Given the description of an element on the screen output the (x, y) to click on. 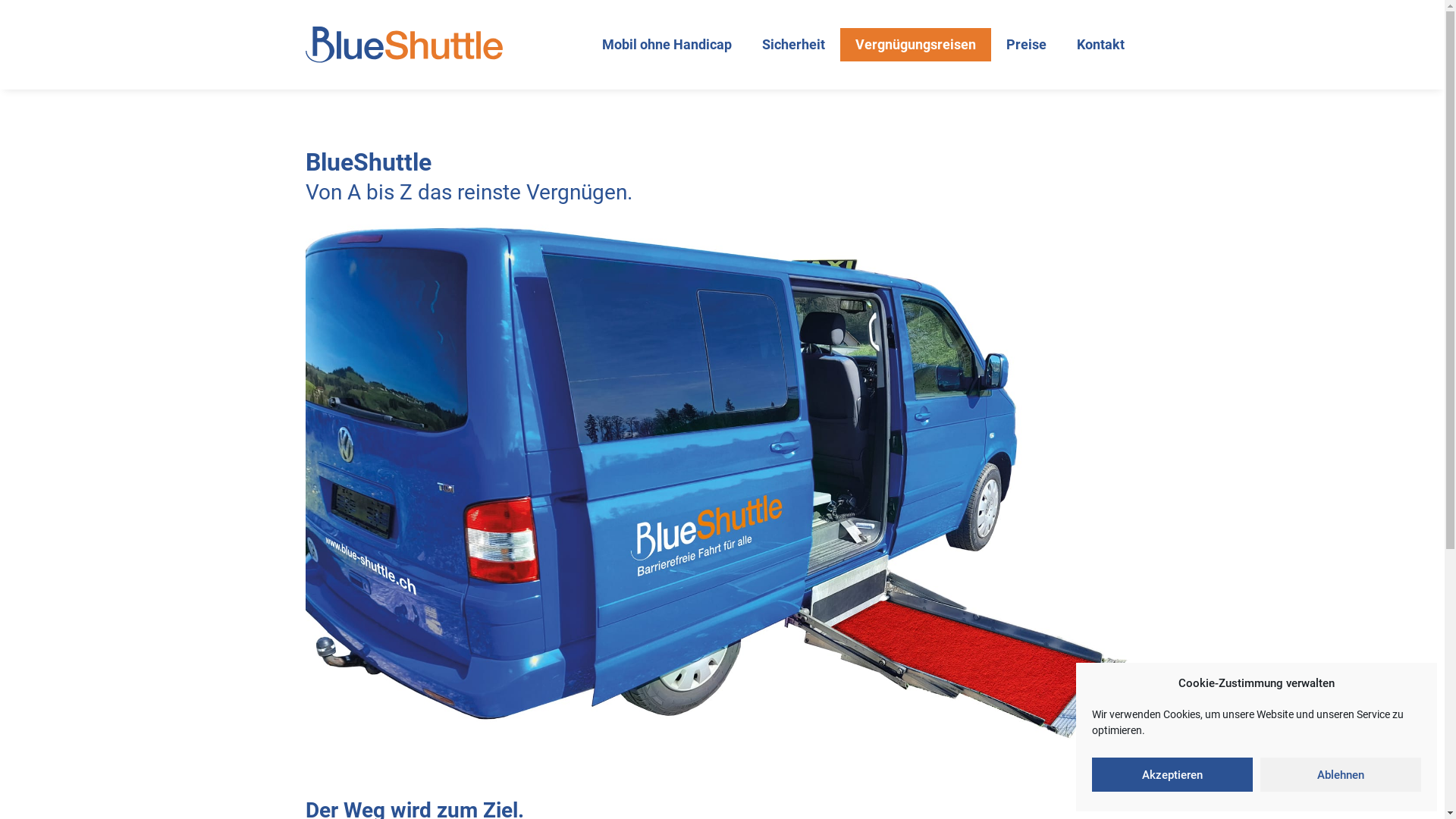
Sicherheit Element type: text (792, 44)
Preise Element type: text (1025, 44)
Mobil ohne Handicap Element type: text (666, 44)
Kontakt Element type: text (1100, 44)
Ablehnen Element type: text (1340, 774)
Akzeptieren Element type: text (1172, 774)
